Given the description of an element on the screen output the (x, y) to click on. 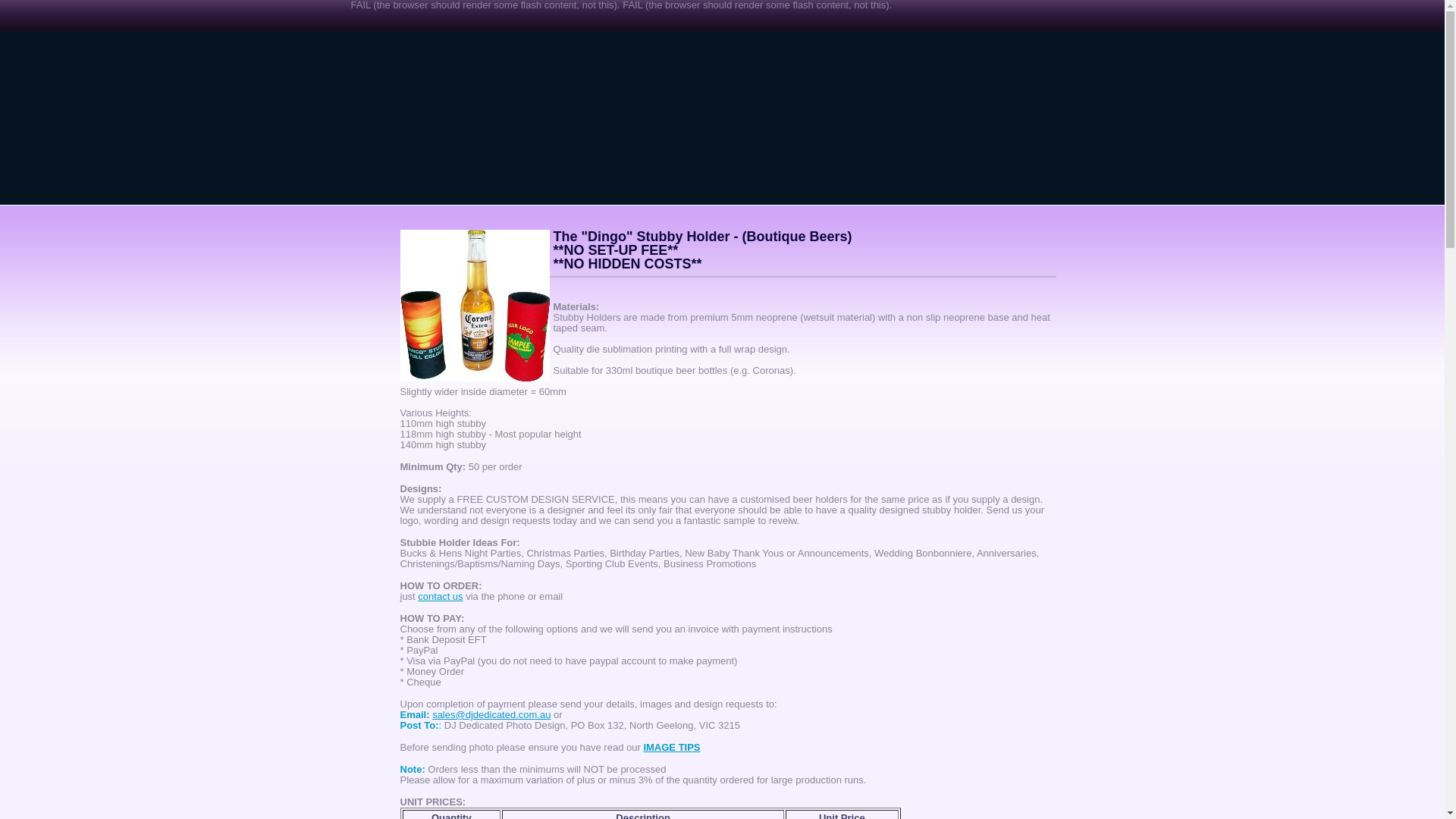
sales@djdedicated.com.au Element type: text (491, 714)
IMAGE TIPS Element type: text (671, 747)
contact us Element type: text (439, 596)
